Given the description of an element on the screen output the (x, y) to click on. 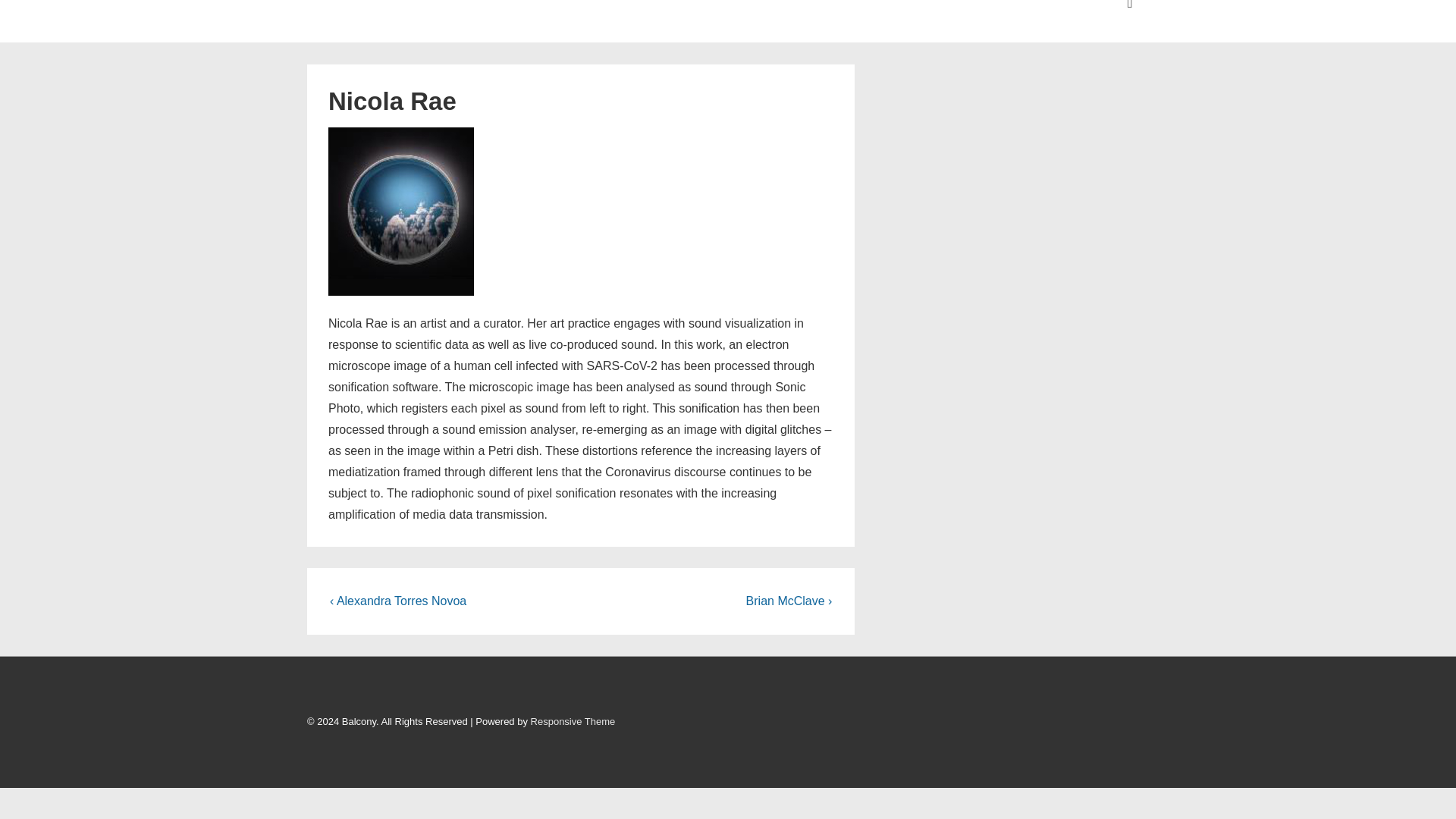
Responsive Theme (573, 721)
